Given the description of an element on the screen output the (x, y) to click on. 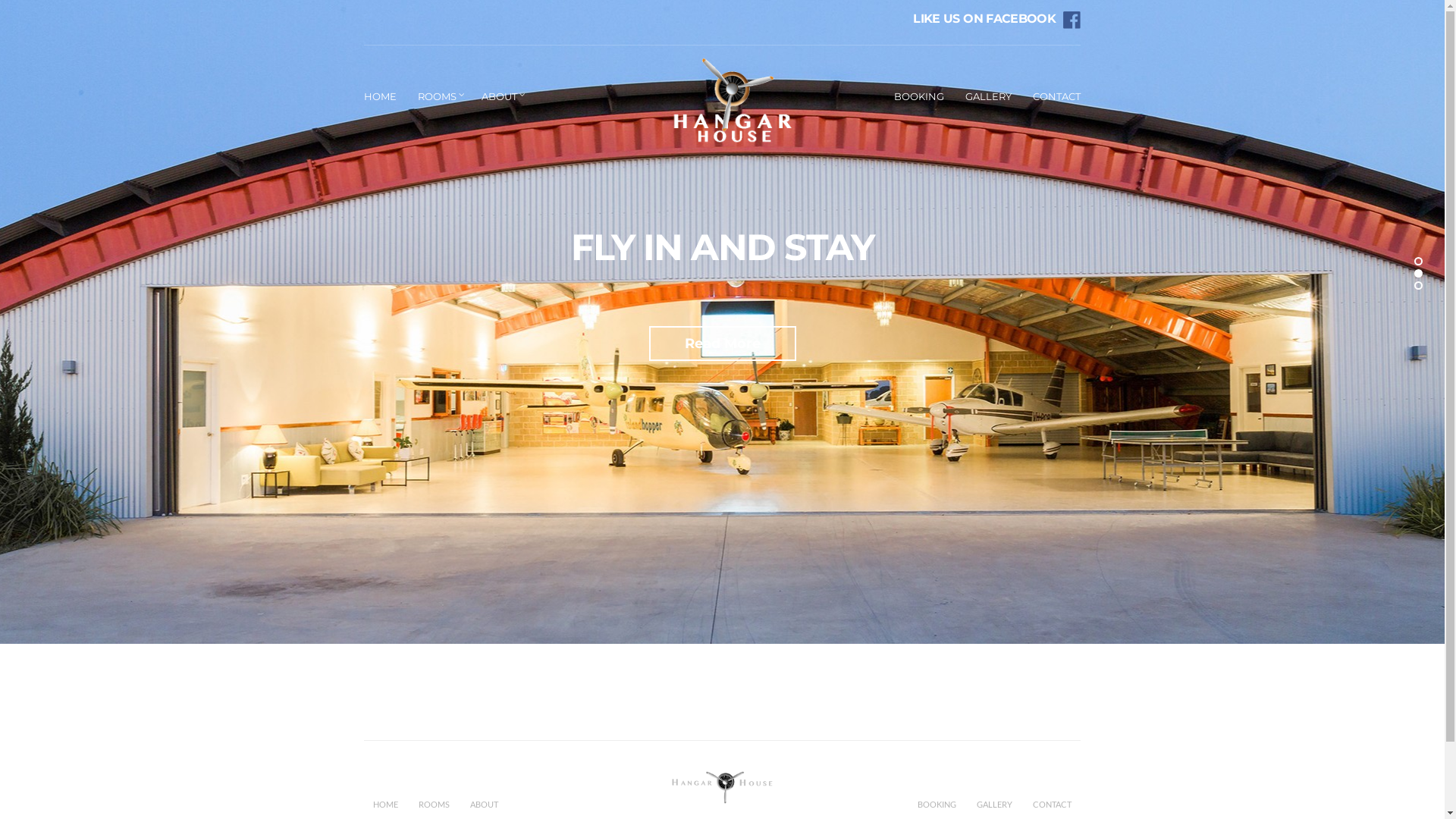
ROOMS Element type: text (438, 98)
BOOKING Element type: text (936, 806)
HOME Element type: text (385, 806)
3 Element type: text (1418, 285)
GALLERY Element type: text (988, 98)
2 Element type: text (1418, 273)
Read More Element type: text (722, 343)
GALLERY Element type: text (994, 806)
ABOUT Element type: text (484, 806)
BOOKING Element type: text (919, 98)
1 Element type: text (1418, 261)
ABOUT Element type: text (500, 98)
CONTACT Element type: text (1056, 98)
CONTACT Element type: text (1051, 806)
ROOMS Element type: text (433, 806)
HOME Element type: text (380, 98)
